Given the description of an element on the screen output the (x, y) to click on. 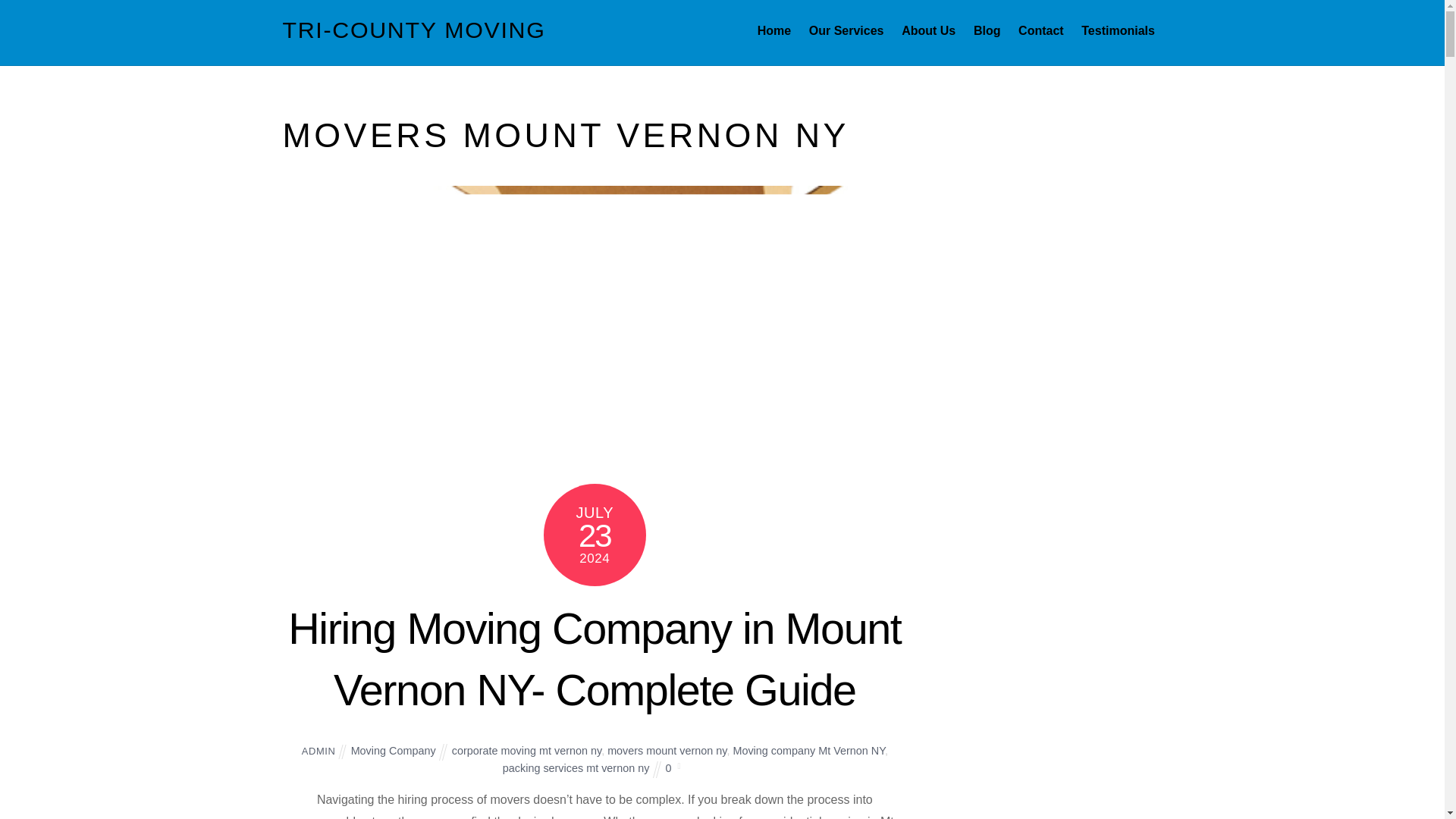
packing services mt vernon ny (575, 767)
corporate moving mt vernon ny (526, 750)
Home (773, 30)
Moving company Mt Vernon NY (808, 750)
TRI-COUNTY MOVING (413, 29)
ADMIN (318, 750)
Contact (1040, 30)
Our Services (846, 30)
Blog (986, 30)
TRI-COUNTY MOVING   (413, 29)
Moving Company (392, 750)
Hiring Moving Company in Mount Vernon NY- Complete Guide (594, 659)
Testimonials (1117, 30)
movers mount vernon ny (666, 750)
About Us (928, 30)
